Given the description of an element on the screen output the (x, y) to click on. 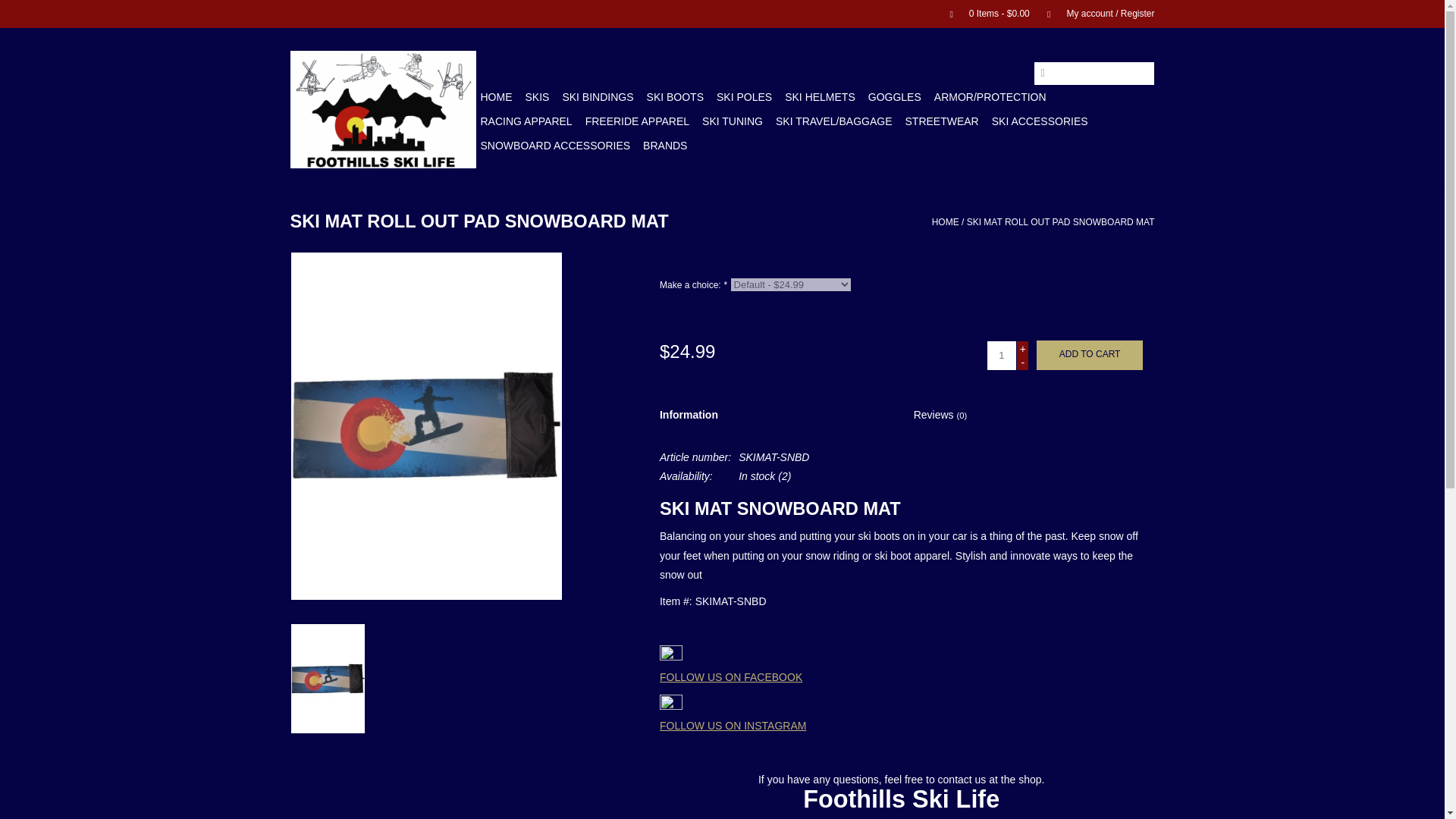
SKI BOOTS (674, 96)
My account (1093, 13)
Cart (983, 13)
HOME (496, 96)
1 (1001, 355)
SKI BINDINGS (597, 96)
SKIS (536, 96)
Foothills Ski Life (382, 109)
SKIS (536, 96)
